Given the description of an element on the screen output the (x, y) to click on. 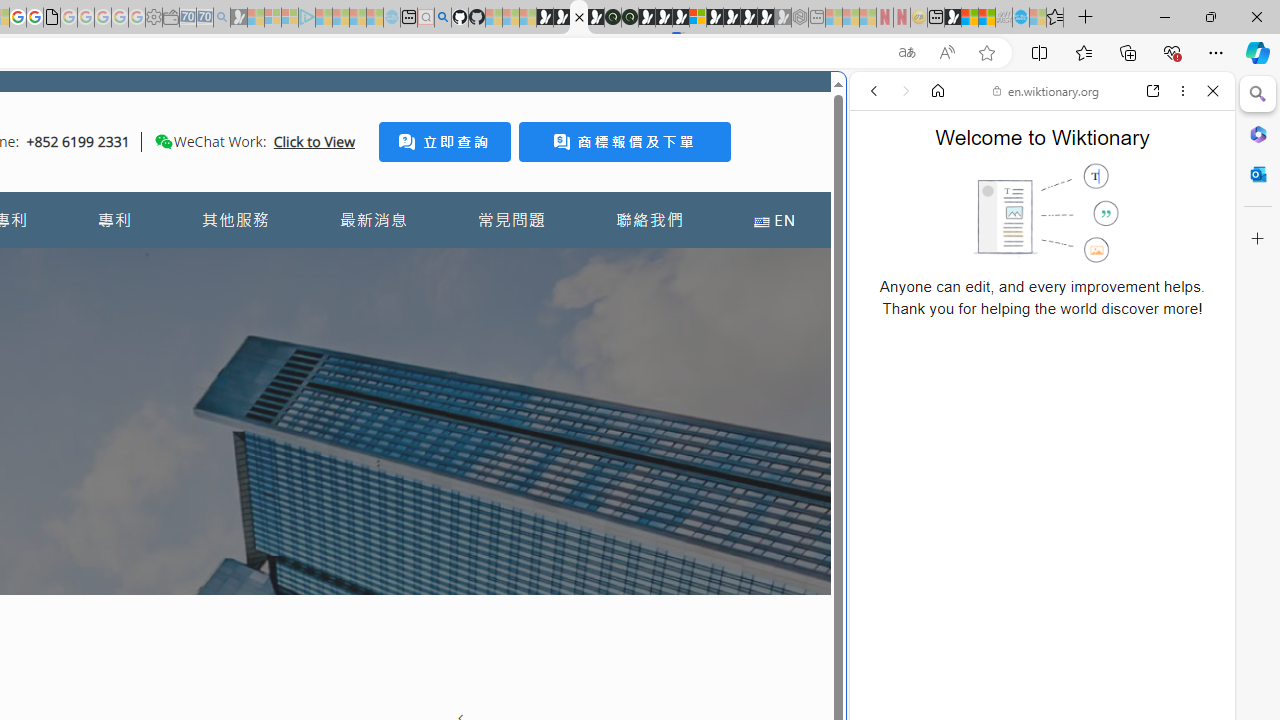
EN (774, 220)
